Given the description of an element on the screen output the (x, y) to click on. 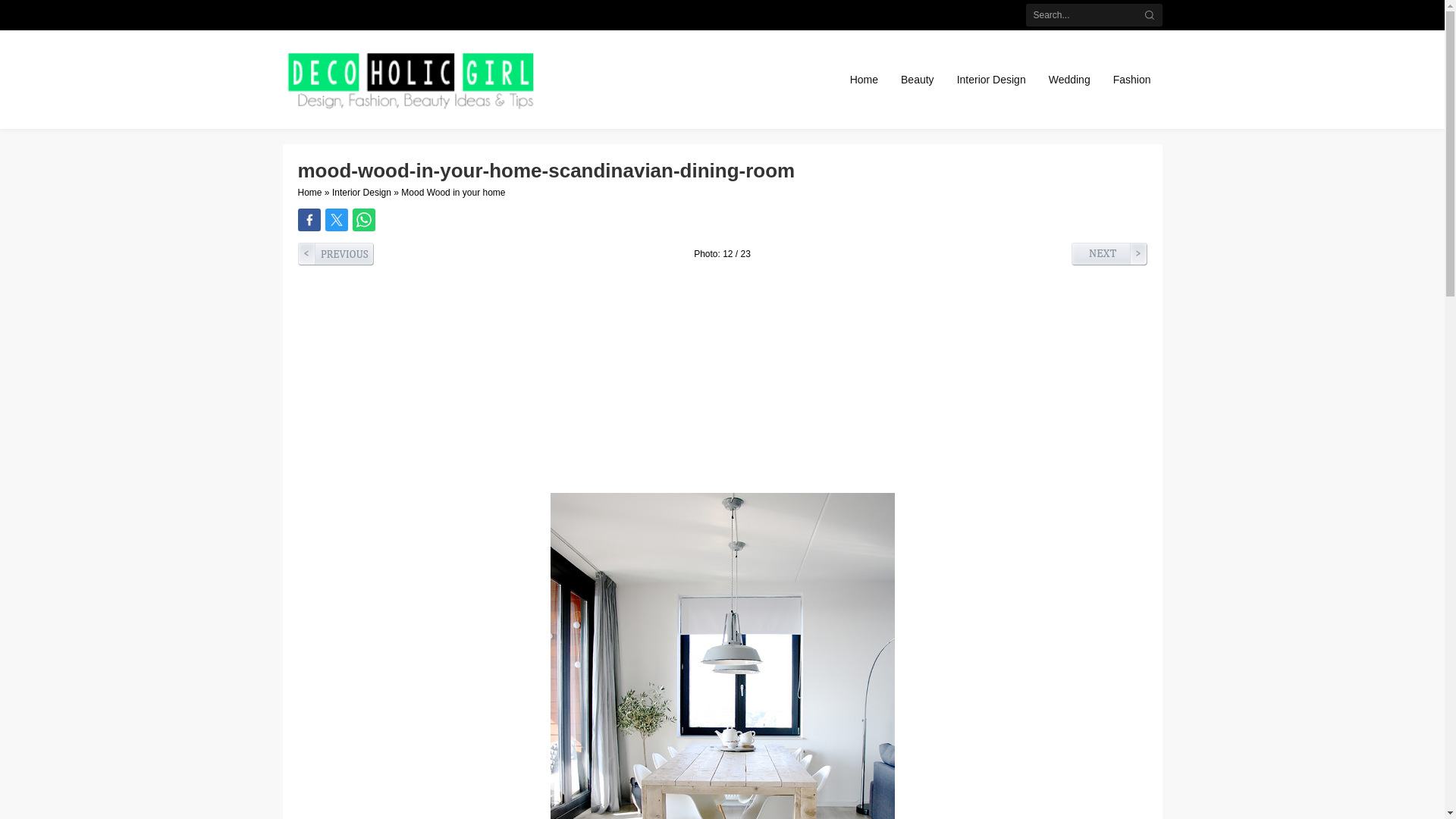
Mood Wood in your home (453, 192)
Interior Design (990, 79)
Home (309, 192)
Search... (1093, 15)
Interior Design (361, 192)
Next Image (1108, 253)
Decoholic Girl (408, 79)
Previous Image (334, 253)
